Given the description of an element on the screen output the (x, y) to click on. 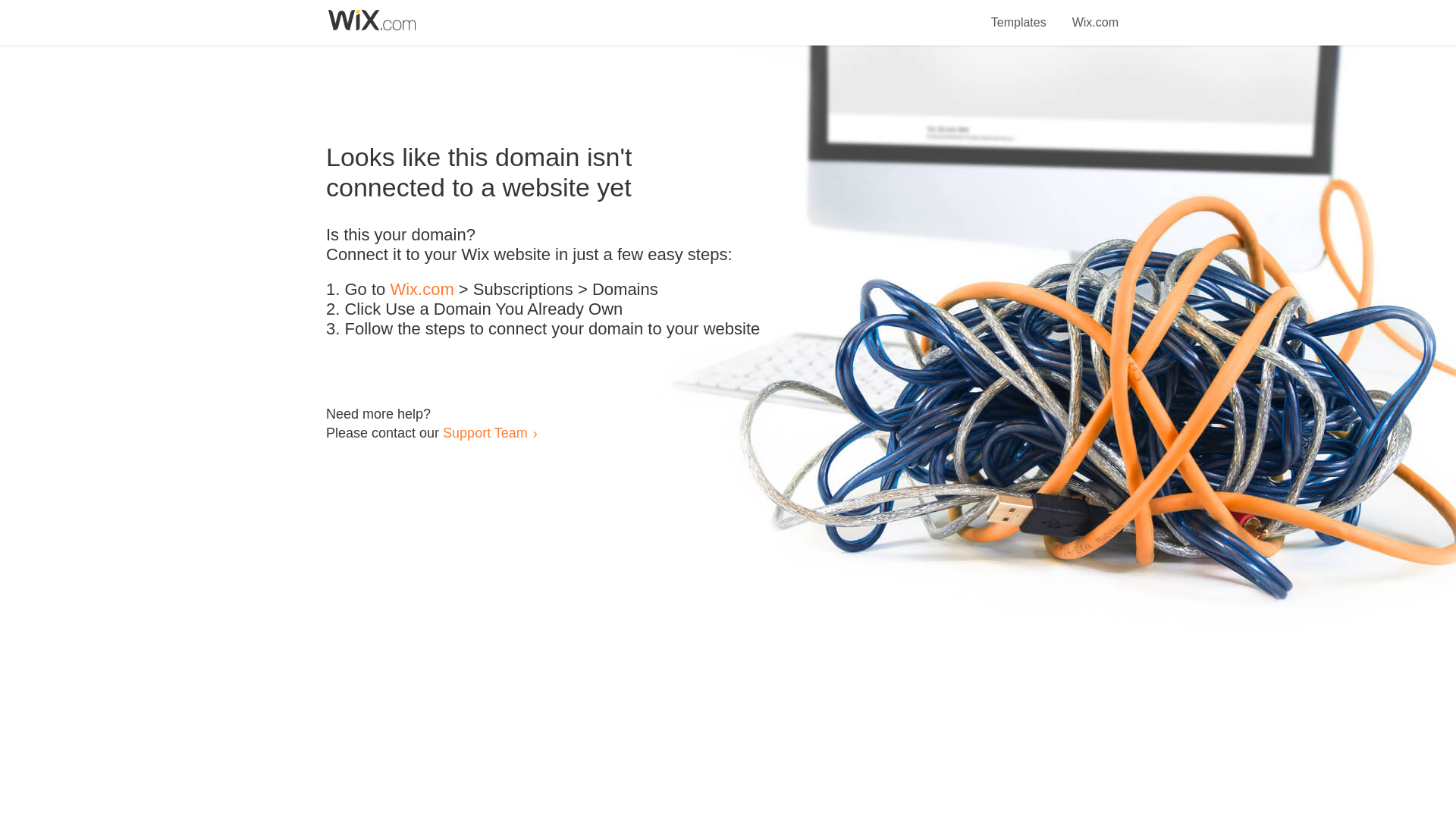
Templates (1018, 14)
Wix.com (1095, 14)
Wix.com (421, 289)
Support Team (484, 432)
